Given the description of an element on the screen output the (x, y) to click on. 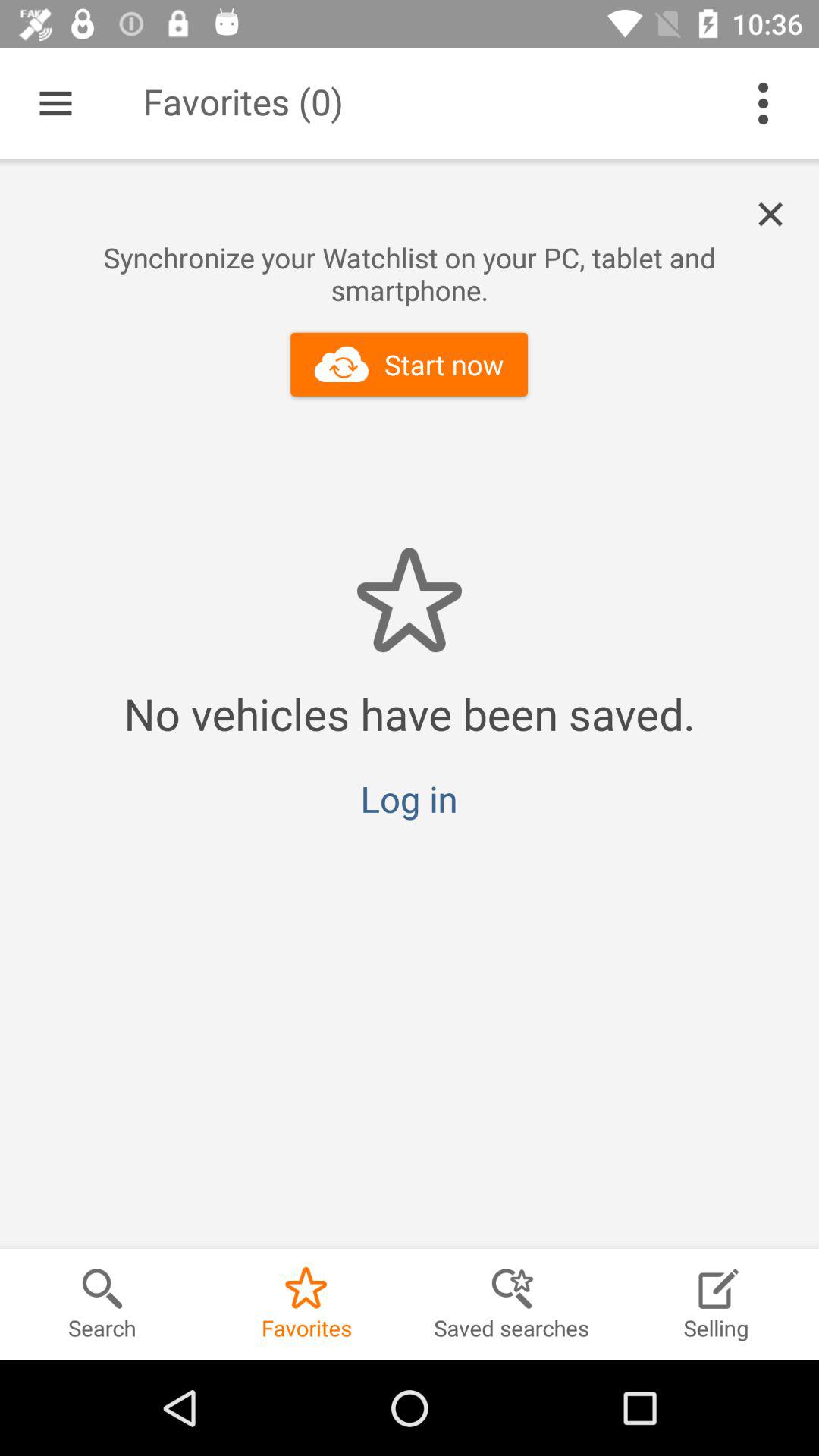
click item next to the favorites (0) item (763, 103)
